Given the description of an element on the screen output the (x, y) to click on. 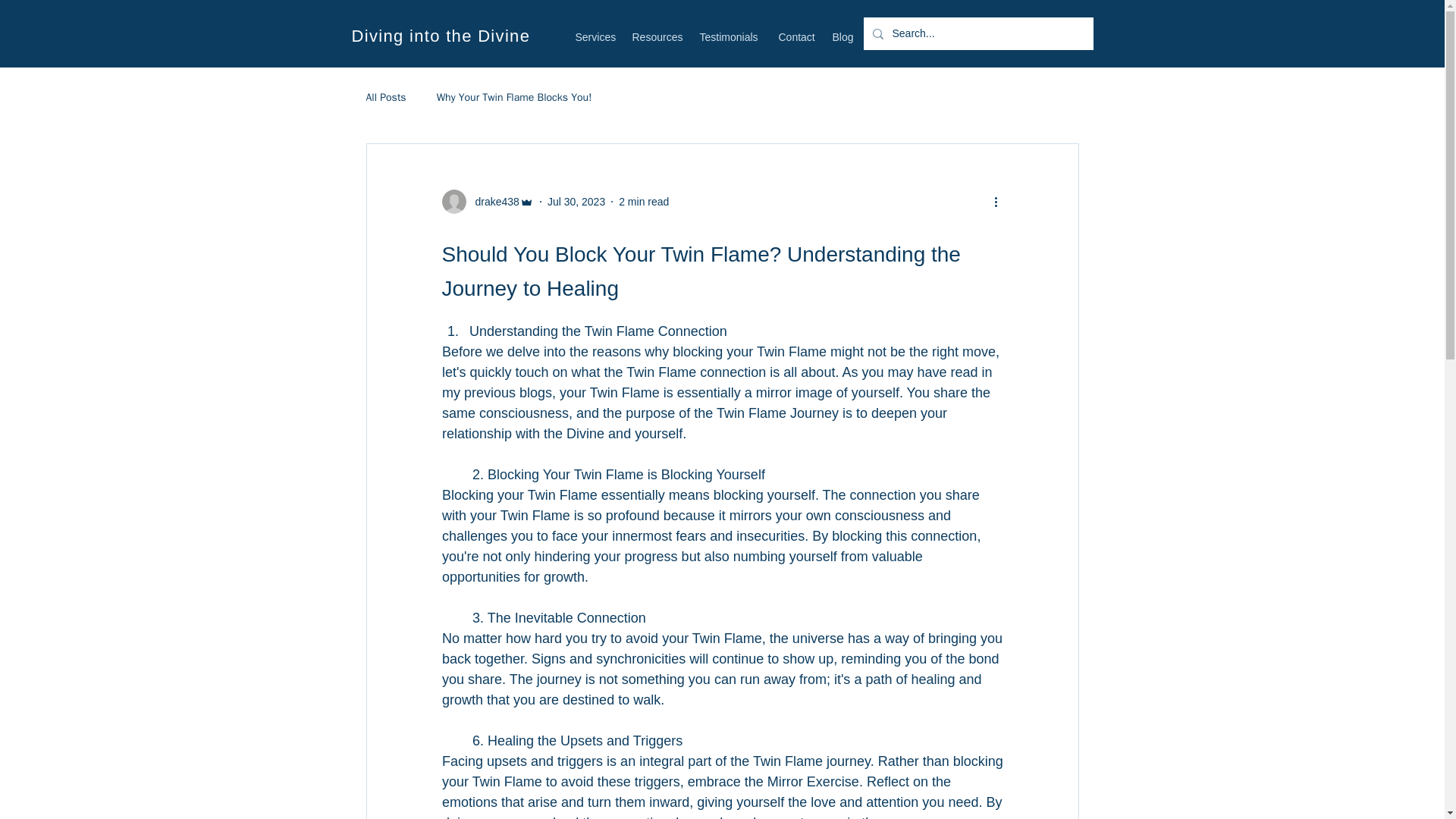
drake438 (486, 201)
Resources (658, 36)
All Posts (385, 97)
Blog (843, 36)
2 min read (643, 201)
drake438 (491, 201)
Diving into the Divine (441, 35)
Why Your Twin Flame Blocks You! (514, 97)
Testimonials (730, 36)
Contact (797, 36)
